Given the description of an element on the screen output the (x, y) to click on. 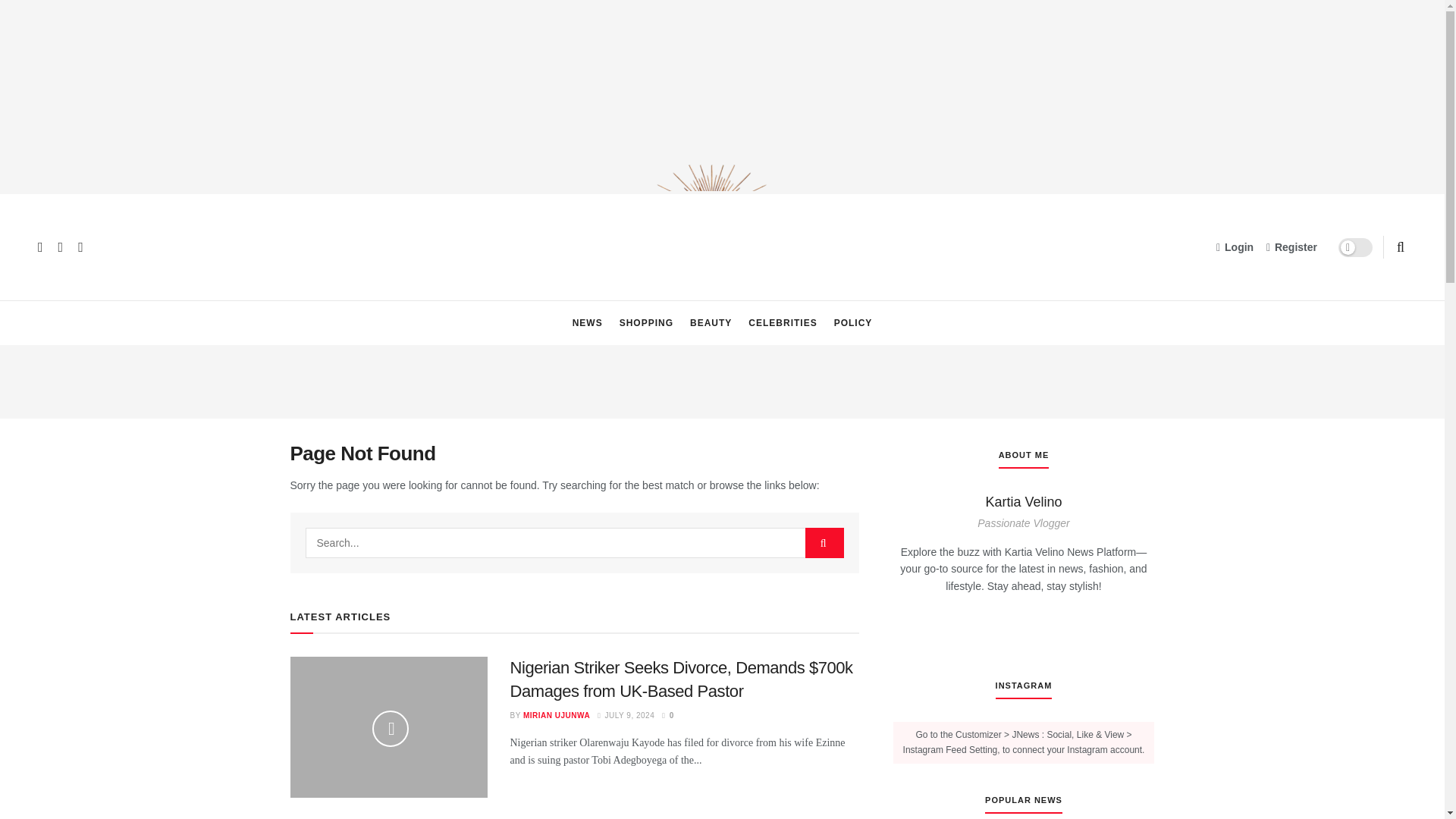
BEAUTY (711, 322)
MIRIAN UJUNWA (555, 715)
0 (668, 715)
JULY 9, 2024 (624, 715)
Login (1234, 247)
CELEBRITIES (782, 322)
Register (1291, 247)
SHOPPING (646, 322)
